Given the description of an element on the screen output the (x, y) to click on. 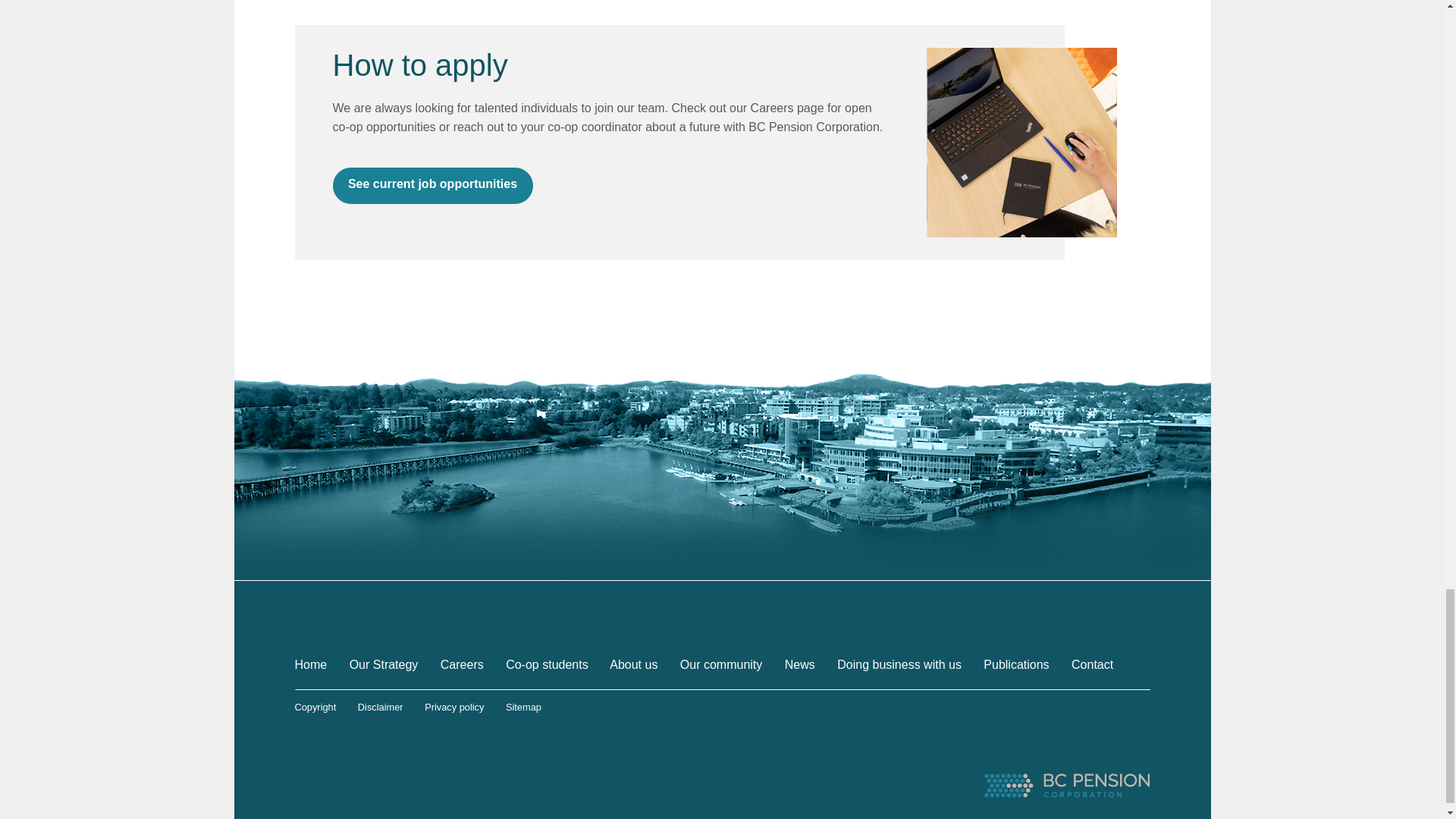
Careers (462, 664)
Our community (720, 664)
About us (634, 664)
Co-op students (546, 664)
Sitemap (523, 706)
Contact (1092, 664)
Copyright (315, 706)
Doing business with us (898, 664)
News (799, 664)
Disclaimer (380, 706)
See current job opportunities (431, 185)
Publications (1016, 664)
Privacy policy (454, 706)
Home (310, 664)
Our Strategy (384, 664)
